Given the description of an element on the screen output the (x, y) to click on. 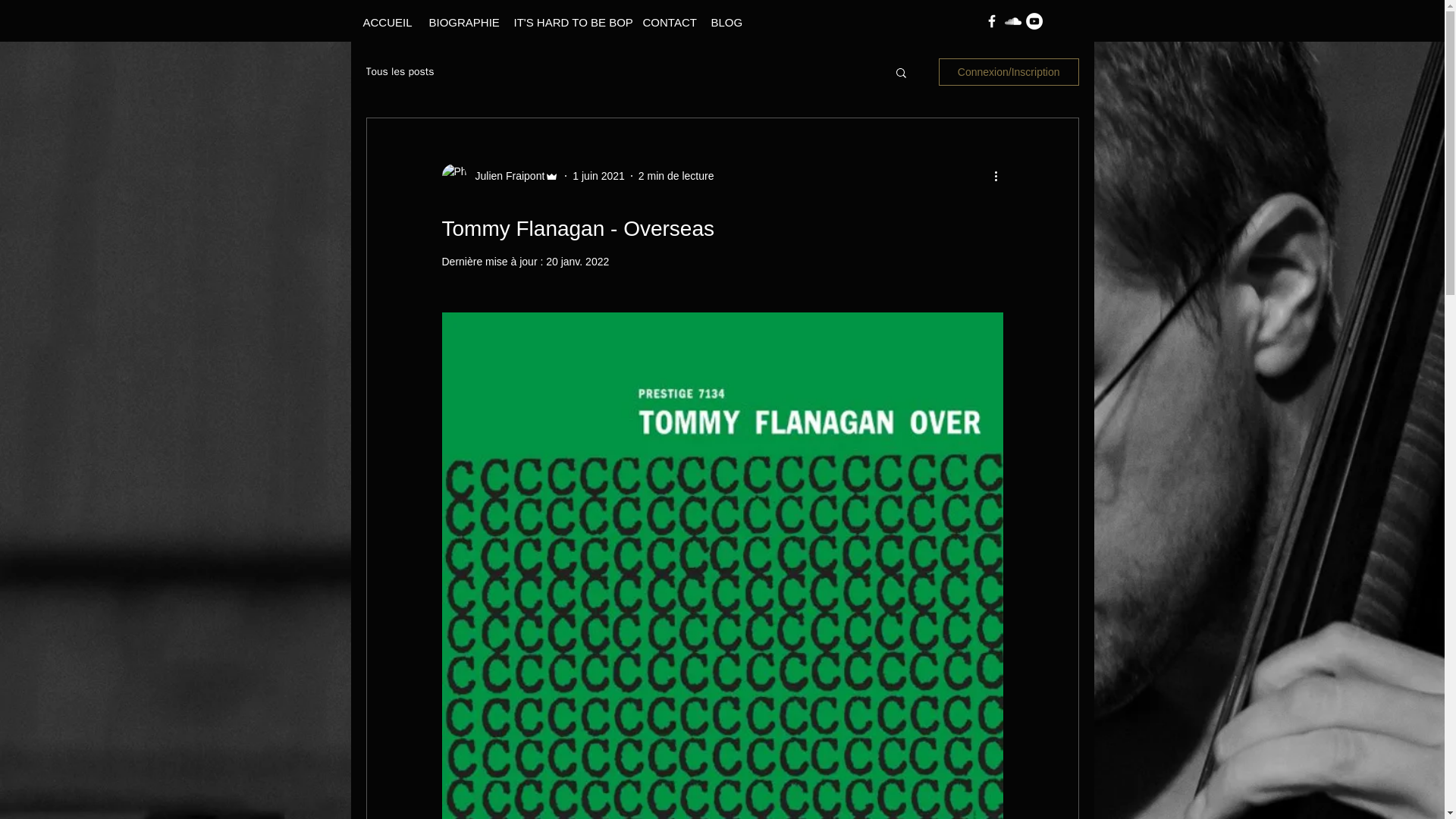
BIOGRAPHIE (459, 22)
Tous les posts (399, 71)
20 janv. 2022 (577, 261)
Julien Fraipont (504, 176)
ACCUEIL (383, 22)
IT'S HARD TO BE BOP (566, 22)
CONTACT (664, 22)
1 juin 2021 (598, 175)
BLOG (723, 22)
2 min de lecture (676, 175)
